Given the description of an element on the screen output the (x, y) to click on. 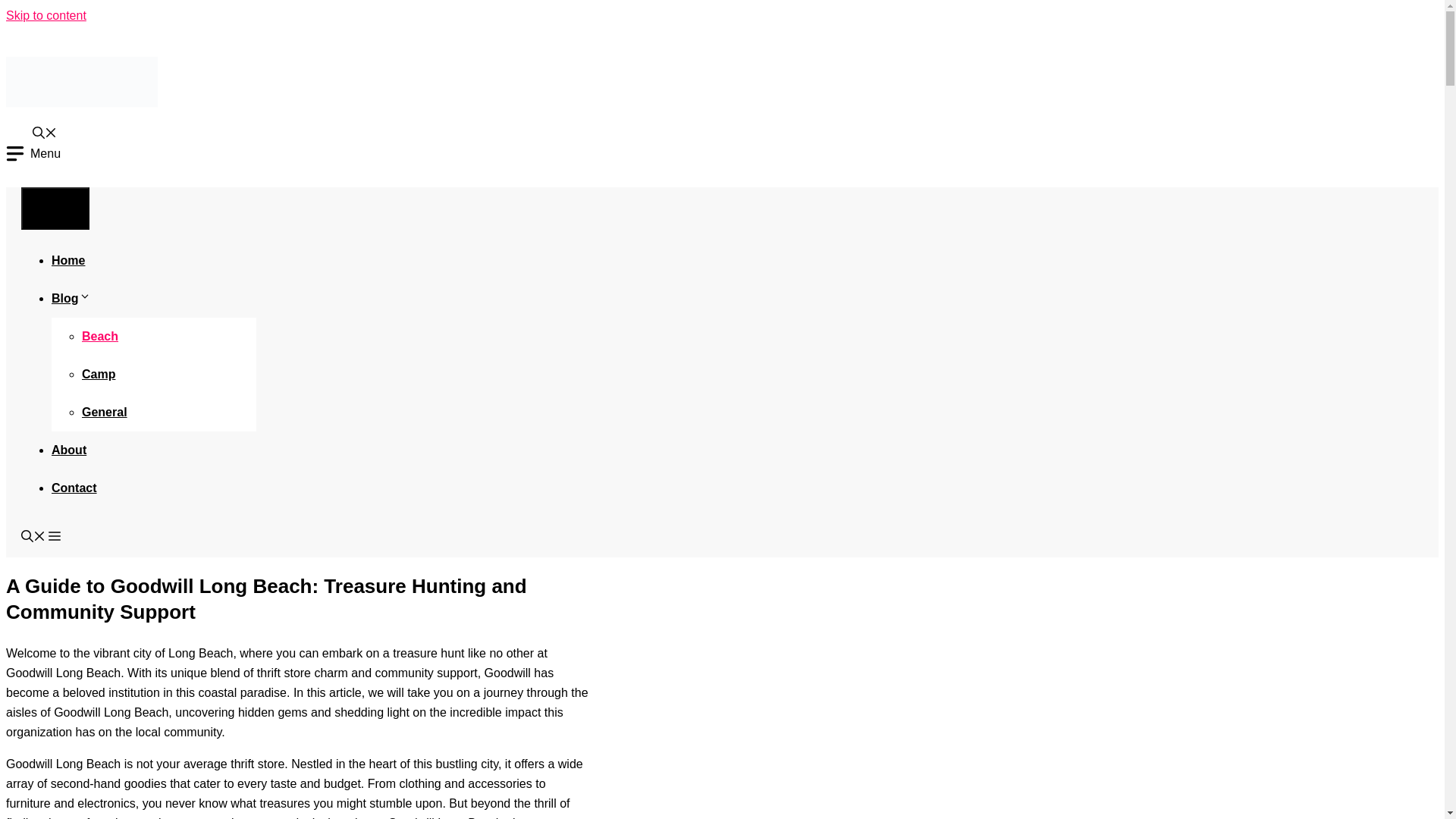
About (67, 449)
Camp (98, 373)
Blog (70, 297)
Menu (33, 153)
Skip to content (45, 15)
Menu (54, 207)
Skip to content (45, 15)
Beach (99, 335)
Home (67, 259)
Contact (73, 486)
General (104, 410)
